Given the description of an element on the screen output the (x, y) to click on. 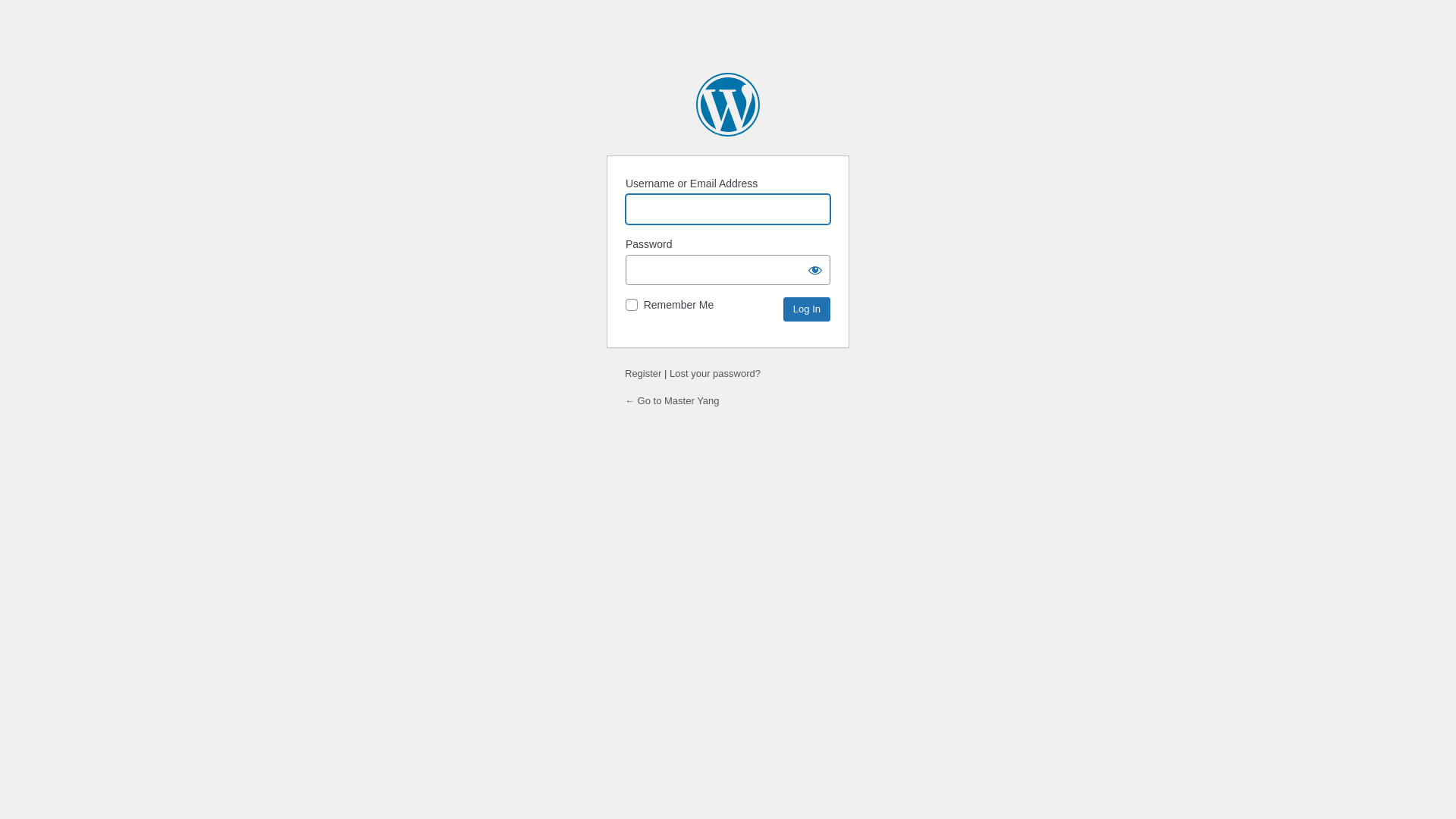
Lost your password? Element type: text (714, 373)
Log In Element type: text (806, 309)
Powered by WordPress Element type: text (727, 104)
Register Element type: text (642, 373)
